Given the description of an element on the screen output the (x, y) to click on. 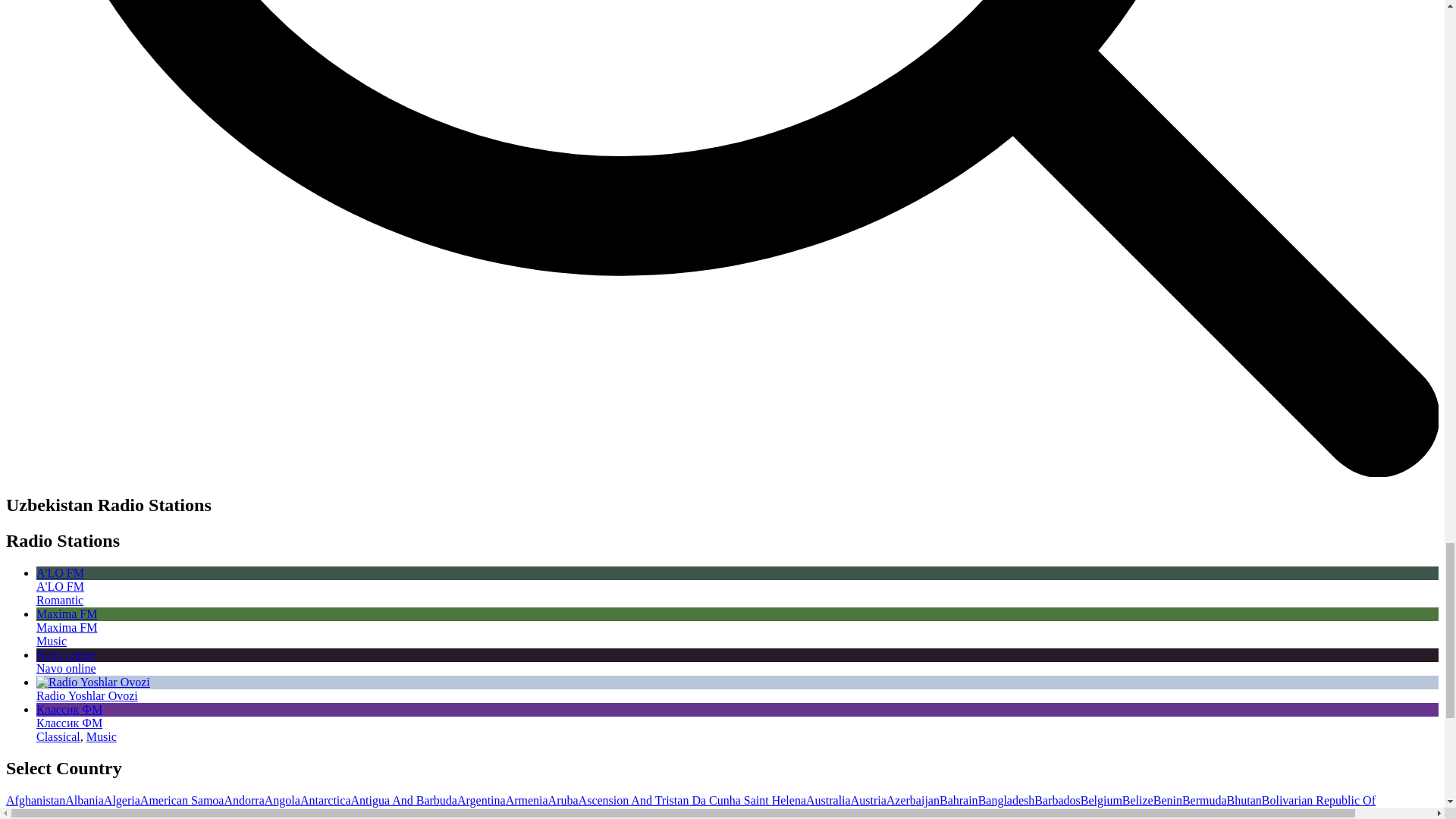
Belize (1137, 799)
Maxima FM (737, 620)
Navo online (66, 667)
Radio Yoshlar Ovozi (87, 695)
Antarctica (324, 799)
Navo online (737, 661)
Austria (868, 799)
Albania (84, 799)
Navo online (737, 661)
Antigua And Barbuda (403, 799)
Music (100, 736)
American Samoa (181, 799)
Andorra (243, 799)
Algeria (121, 799)
Australia (828, 799)
